Given the description of an element on the screen output the (x, y) to click on. 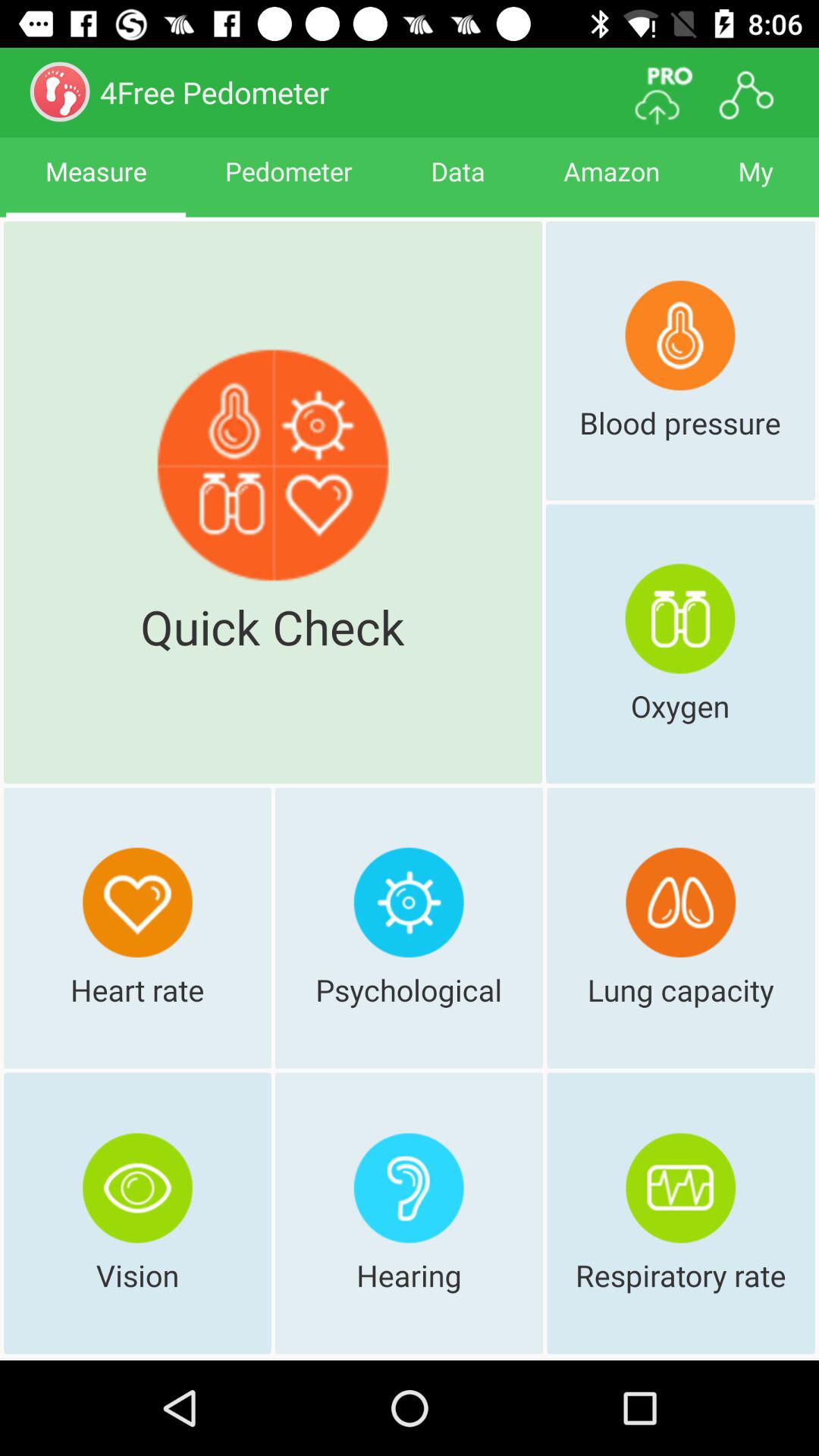
scroll until the data (457, 185)
